Given the description of an element on the screen output the (x, y) to click on. 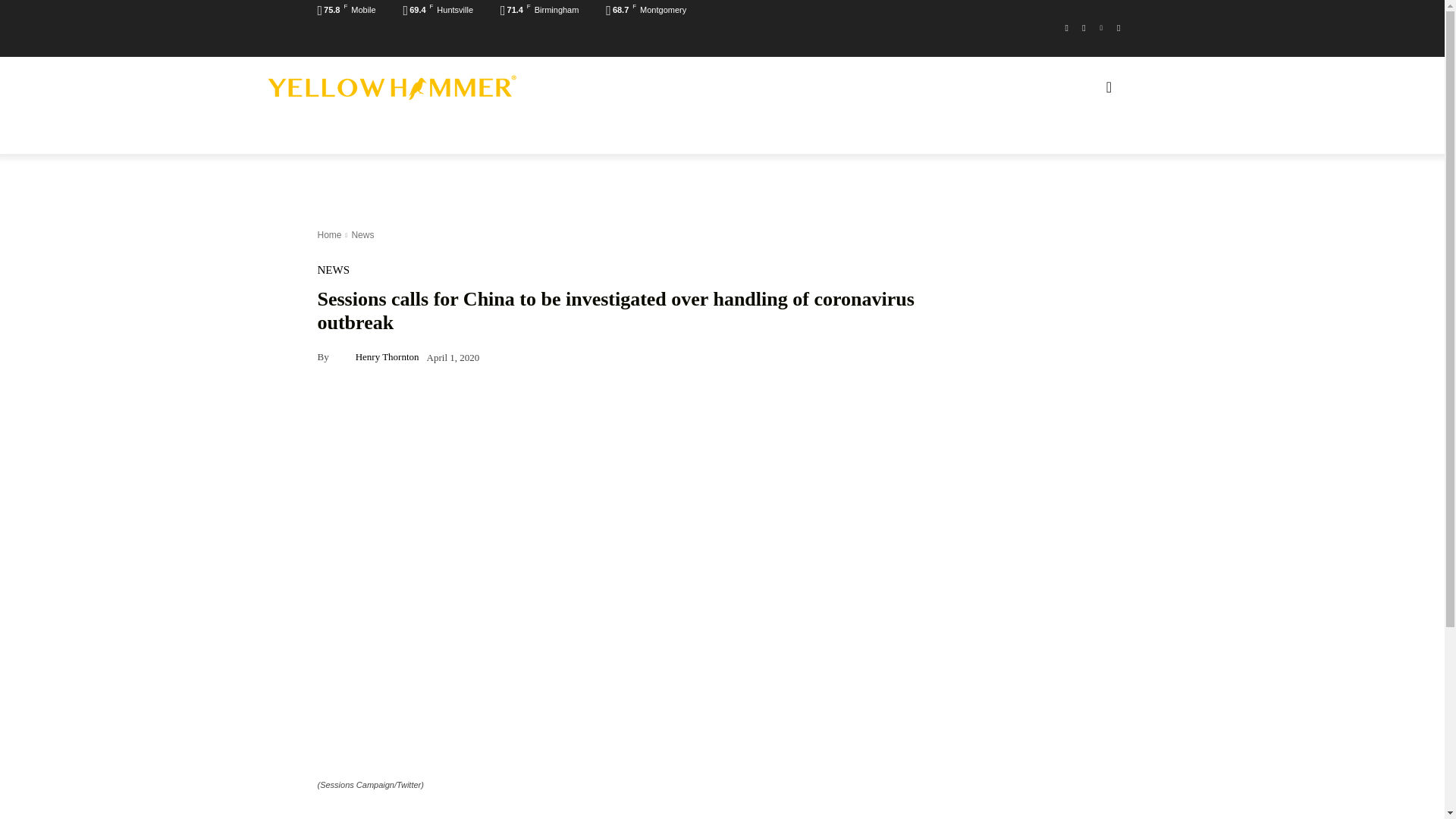
Instagram (1084, 27)
View all posts in News (362, 235)
Facebook (1066, 27)
Linkedin (1101, 27)
Twitter (1117, 27)
Henry Thornton (343, 356)
